Given the description of an element on the screen output the (x, y) to click on. 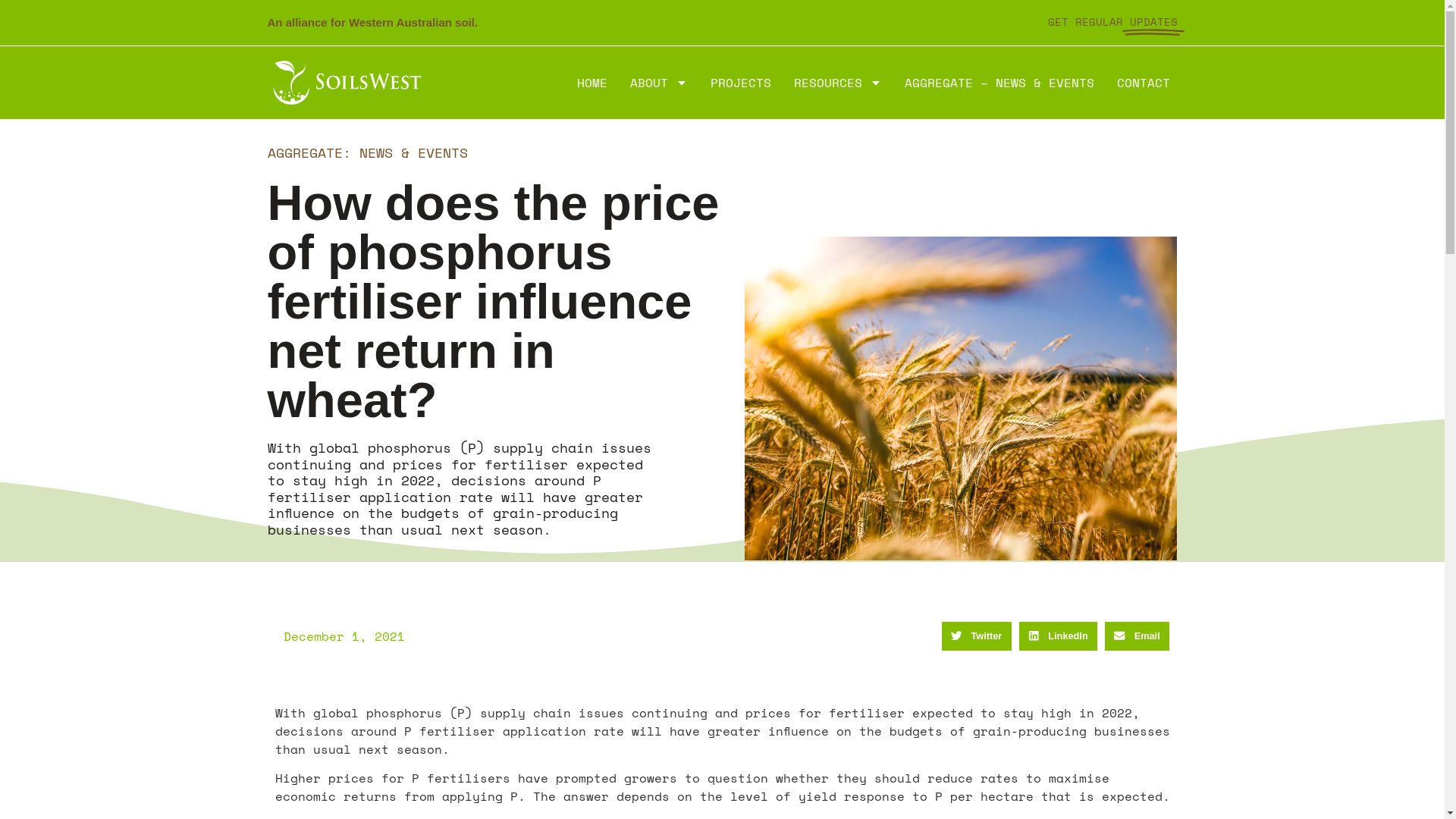
GET REGULAR UPDATES Element type: text (948, 21)
RESOURCES Element type: text (837, 82)
December 1, 2021 Element type: text (339, 636)
ABOUT Element type: text (658, 82)
CONTACT Element type: text (1142, 82)
PROJECTS Element type: text (739, 82)
HOME Element type: text (591, 82)
